Given the description of an element on the screen output the (x, y) to click on. 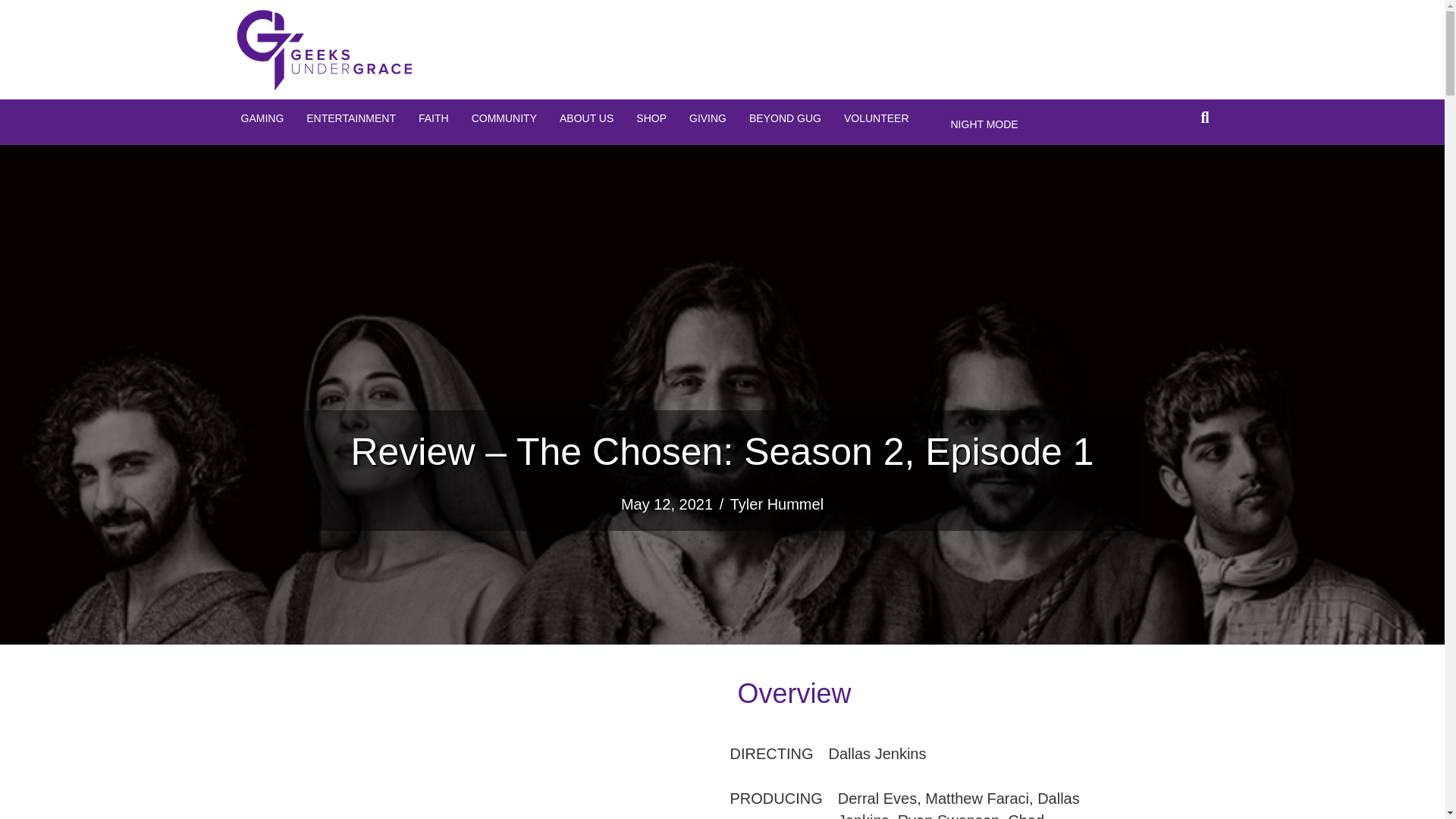
VOLUNTEER (876, 118)
FAITH (433, 118)
ABOUT US (586, 118)
COMMUNITY (504, 118)
GIVING (708, 118)
NIGHT MODE (984, 125)
SHOP (651, 118)
Tyler Hummel (777, 504)
The Chosen: Season 2 Official Trailer (520, 746)
ENTERTAINMENT (351, 118)
GAMING (261, 118)
BEYOND GUG (785, 118)
